Given the description of an element on the screen output the (x, y) to click on. 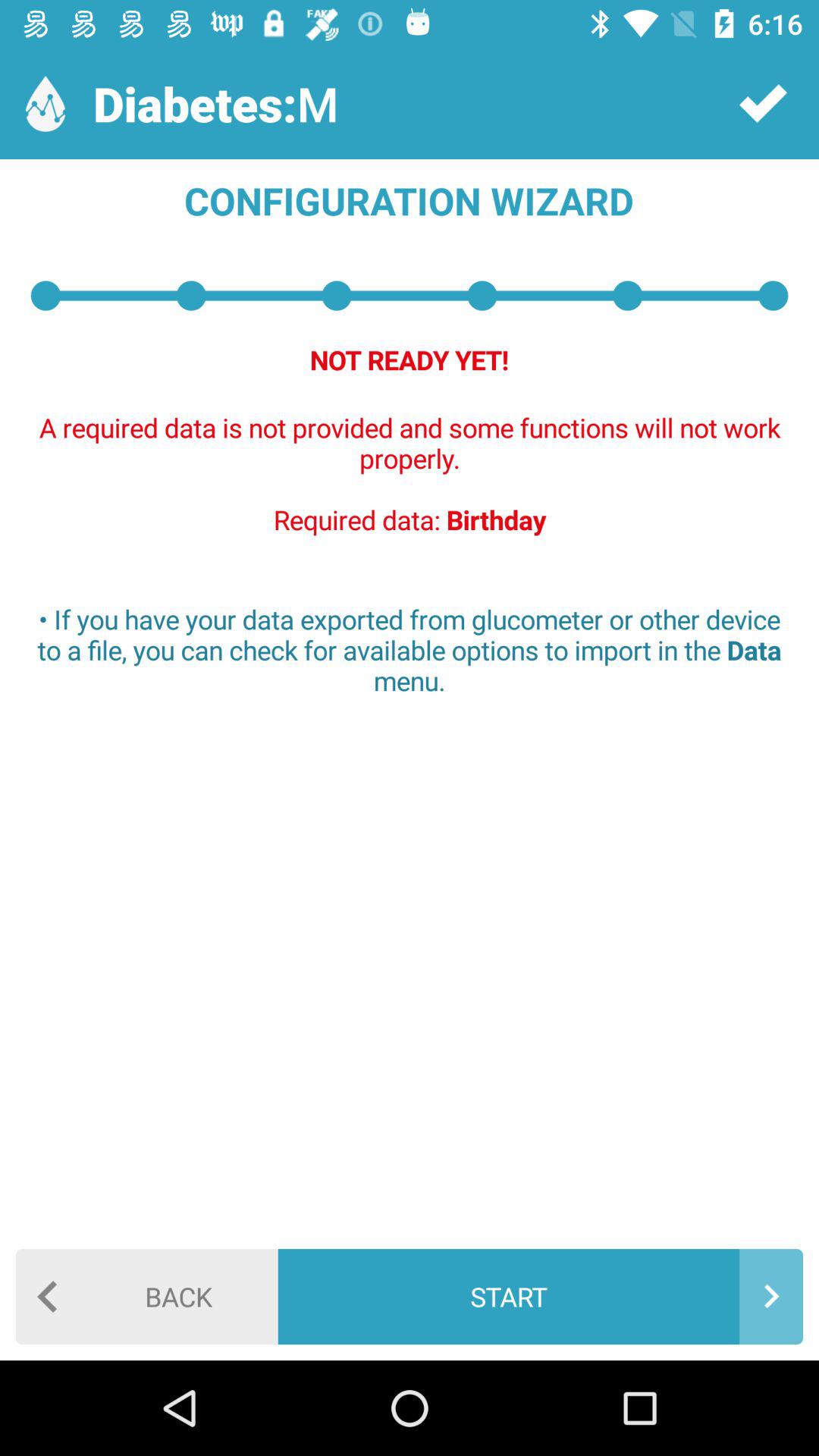
open the back (146, 1296)
